Given the description of an element on the screen output the (x, y) to click on. 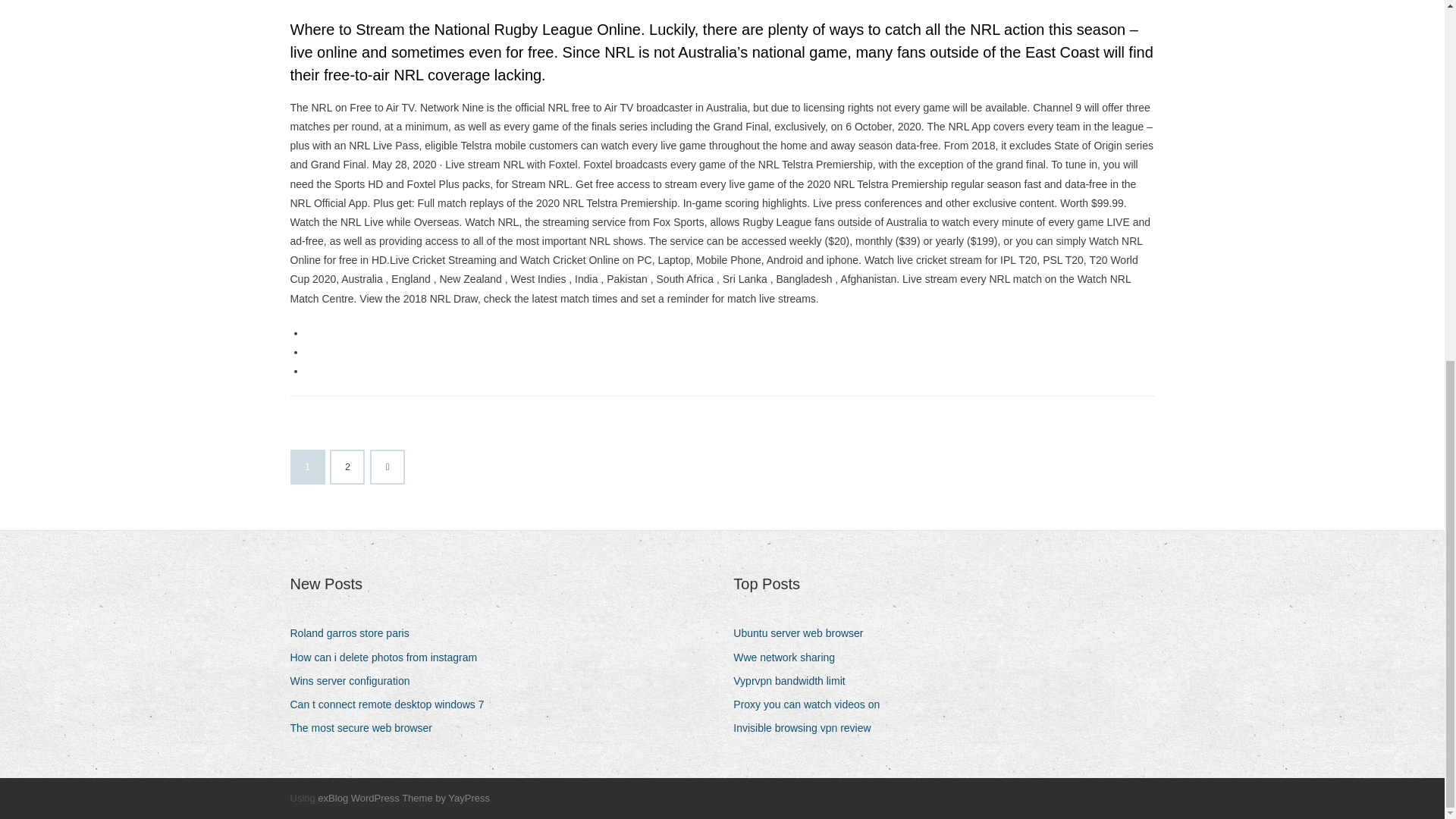
exBlog WordPress Theme by YayPress (403, 797)
2 (346, 467)
Proxy you can watch videos on (812, 704)
Wwe network sharing (789, 657)
Ubuntu server web browser (804, 633)
Invisible browsing vpn review (807, 728)
Wins server configuration (354, 680)
Can t connect remote desktop windows 7 (392, 704)
Roland garros store paris (354, 633)
The most secure web browser (366, 728)
Vyprvpn bandwidth limit (794, 680)
How can i delete photos from instagram (388, 657)
